Given the description of an element on the screen output the (x, y) to click on. 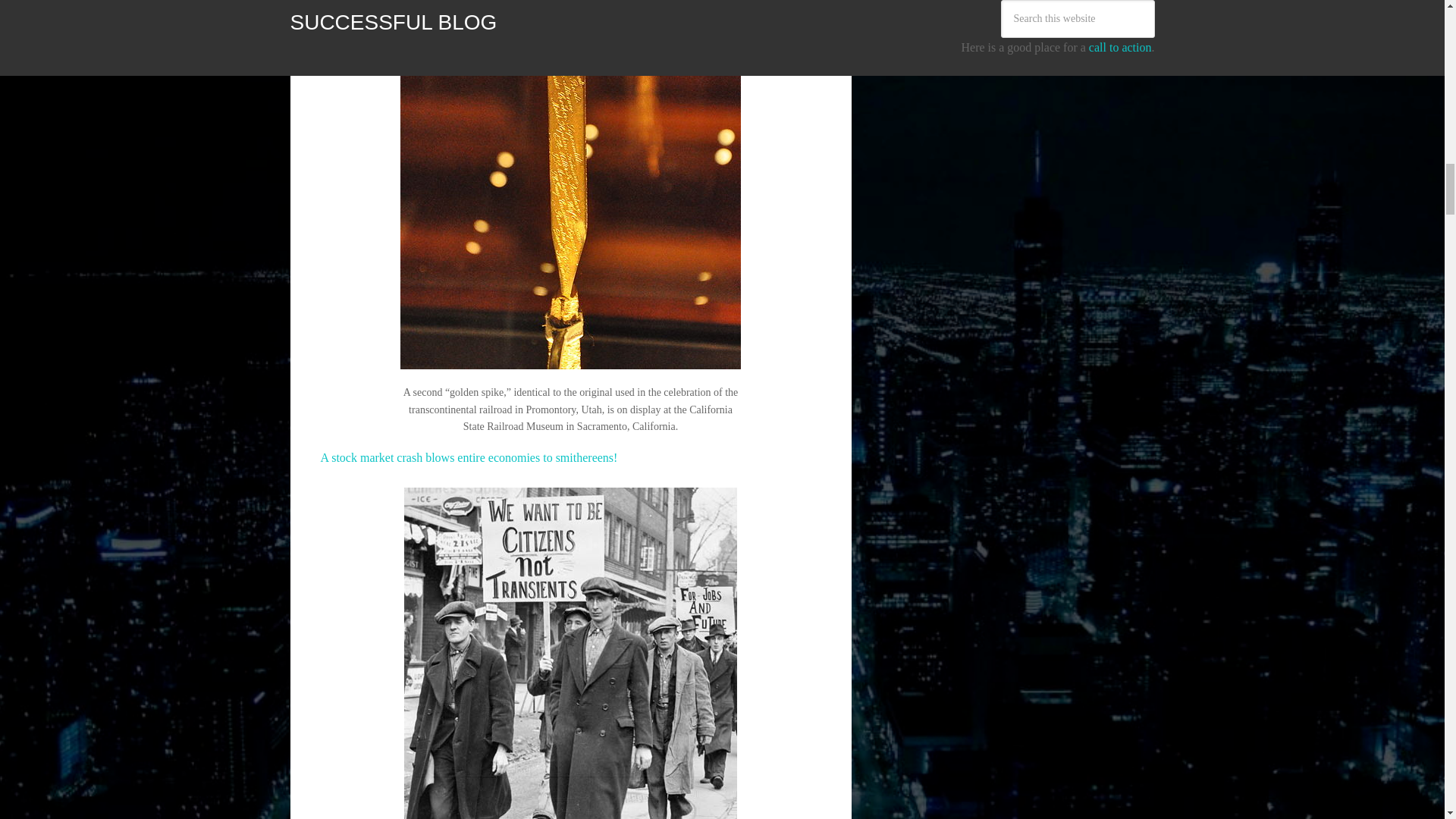
unemployedmarch (570, 653)
A stock market crash blows entire economies to smithereens! (468, 457)
